Given the description of an element on the screen output the (x, y) to click on. 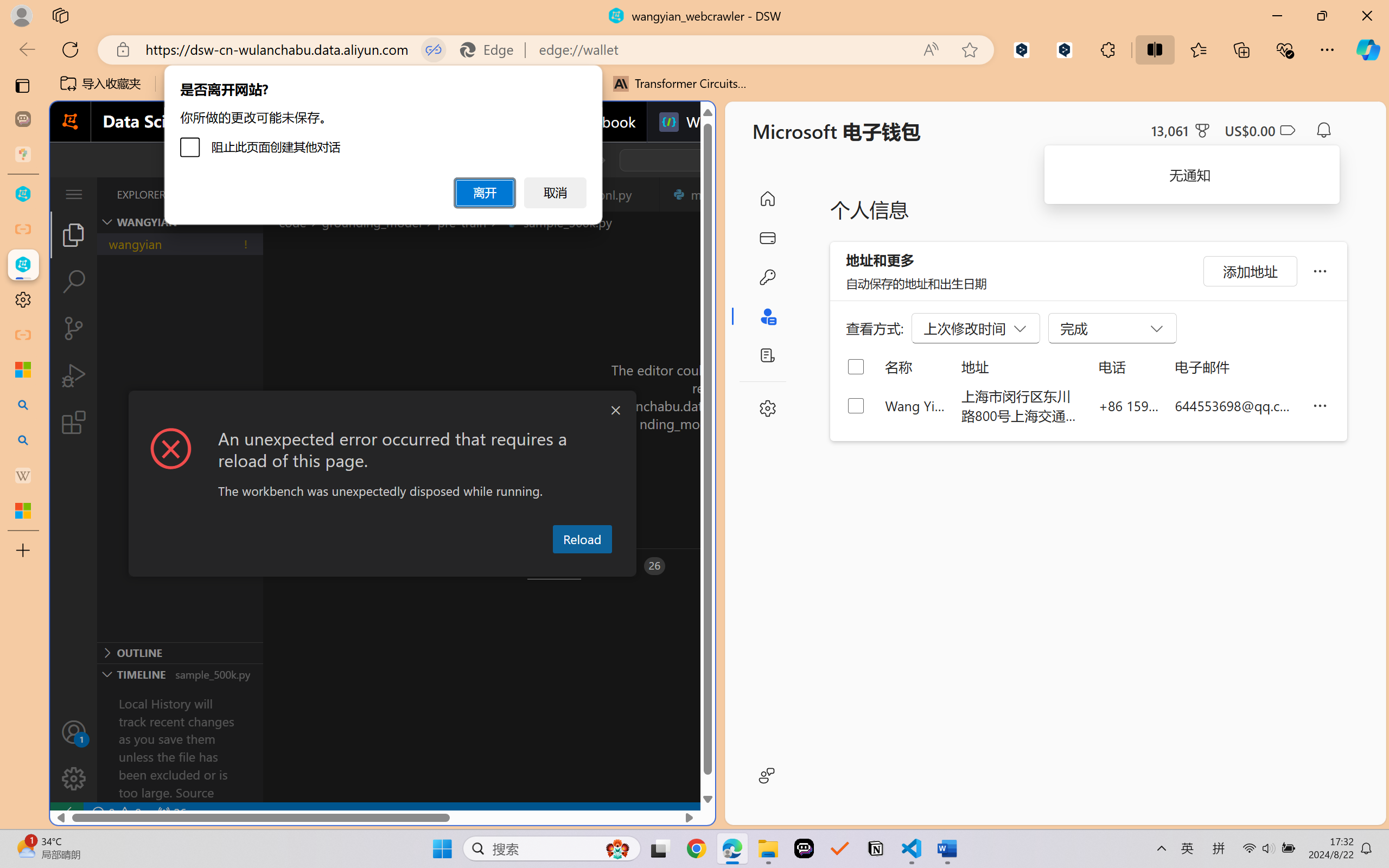
Timeline Section (179, 673)
Accounts - Sign in requested (73, 732)
wangyian_dsw - DSW (22, 194)
Terminal actions (1002, 565)
